Given the description of an element on the screen output the (x, y) to click on. 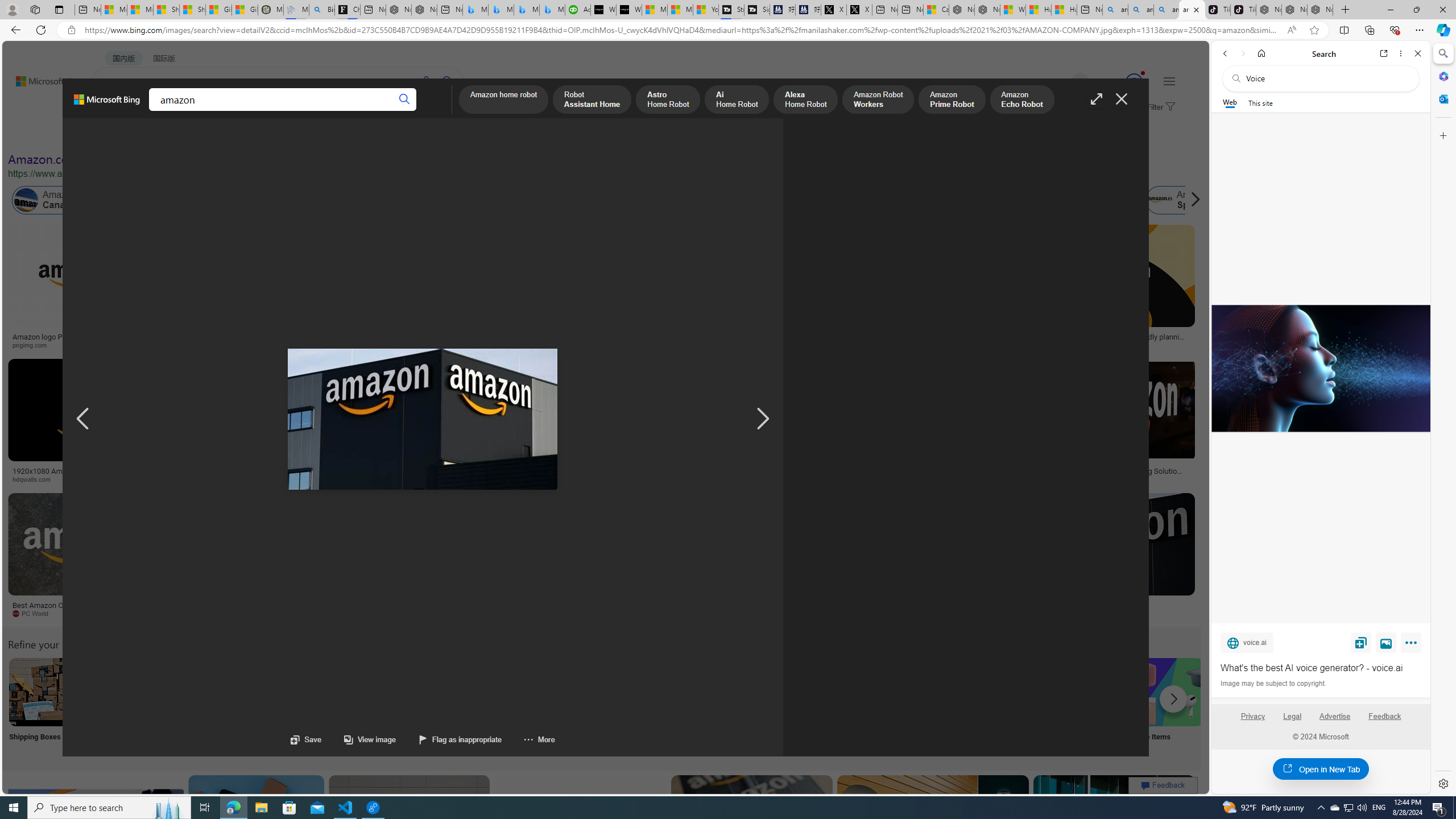
Alexa Smart Home Devices (673, 332)
VIDEOS (260, 111)
Prime Label (1018, 706)
Marketplace (459, 479)
Amazon Echo Dot 4th Gen (673, 264)
Close image (1121, 99)
Amazon Prime Label (1018, 691)
thewrap.com (533, 613)
Amazon Logo (PNG e SVG) Download Vetorial Transparente (783, 340)
Copilot (Ctrl+Shift+.) (1442, 29)
Amazon Prime Label Prime Label (1018, 706)
Amazon Prime Robot (951, 100)
